Given the description of an element on the screen output the (x, y) to click on. 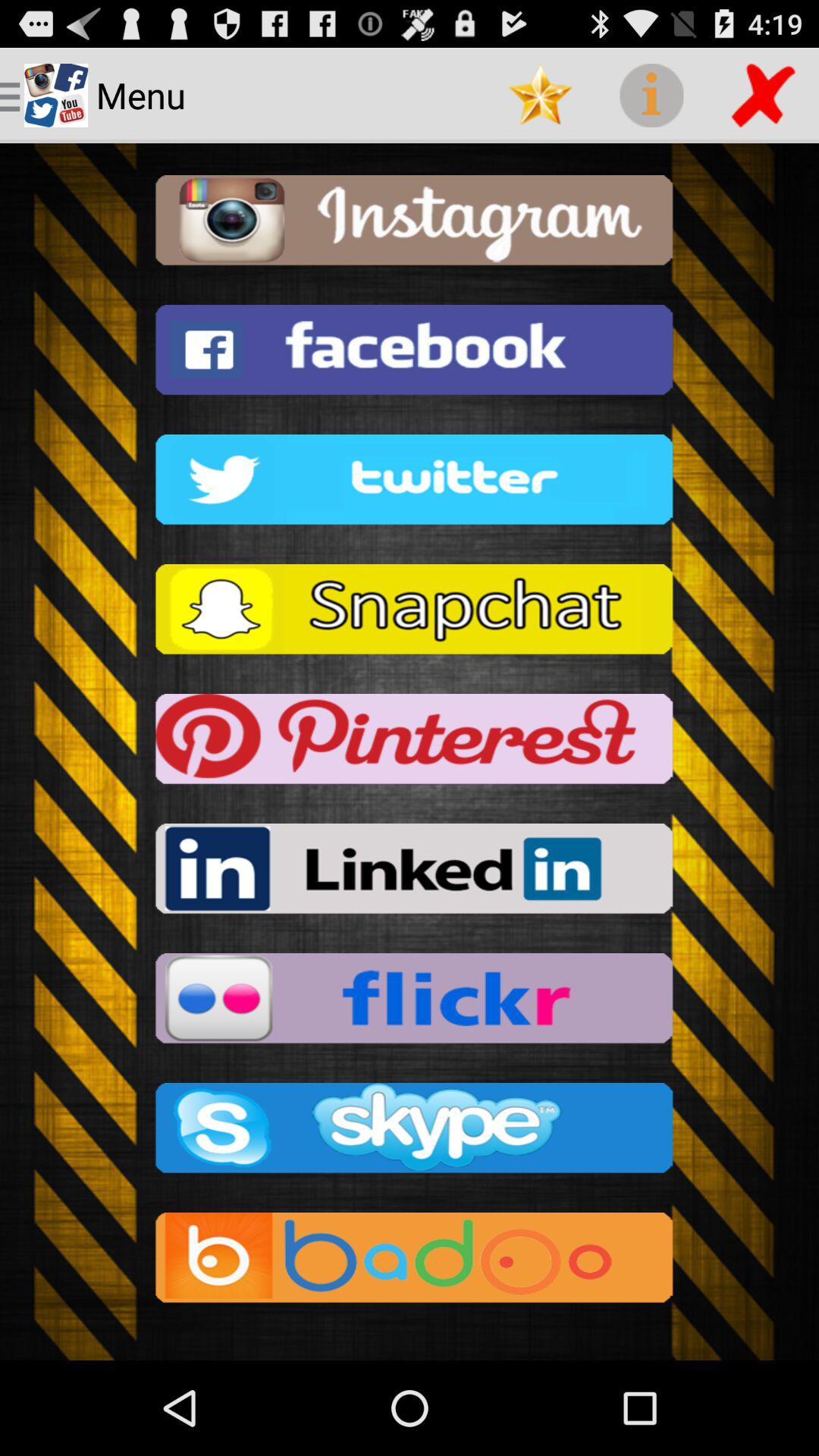
go to cerame (409, 224)
